Given the description of an element on the screen output the (x, y) to click on. 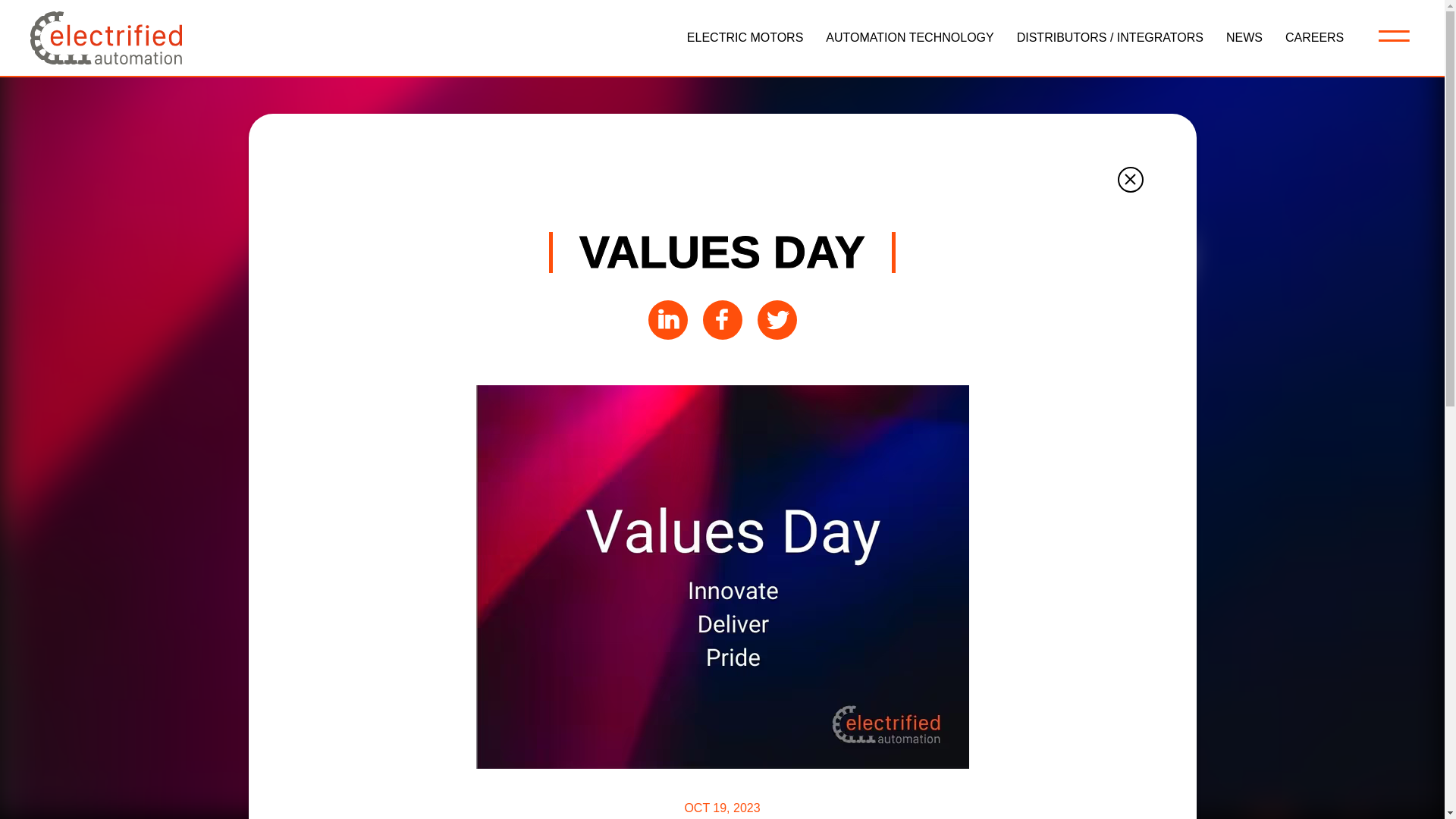
AUTOMATION TECHNOLOGY (908, 37)
CAREERS (1314, 37)
Share with Facebook (721, 318)
NEWS (1243, 37)
ELECTRIC MOTORS (745, 37)
Share on Twitter (776, 318)
Share on Linkedin (667, 318)
